Given the description of an element on the screen output the (x, y) to click on. 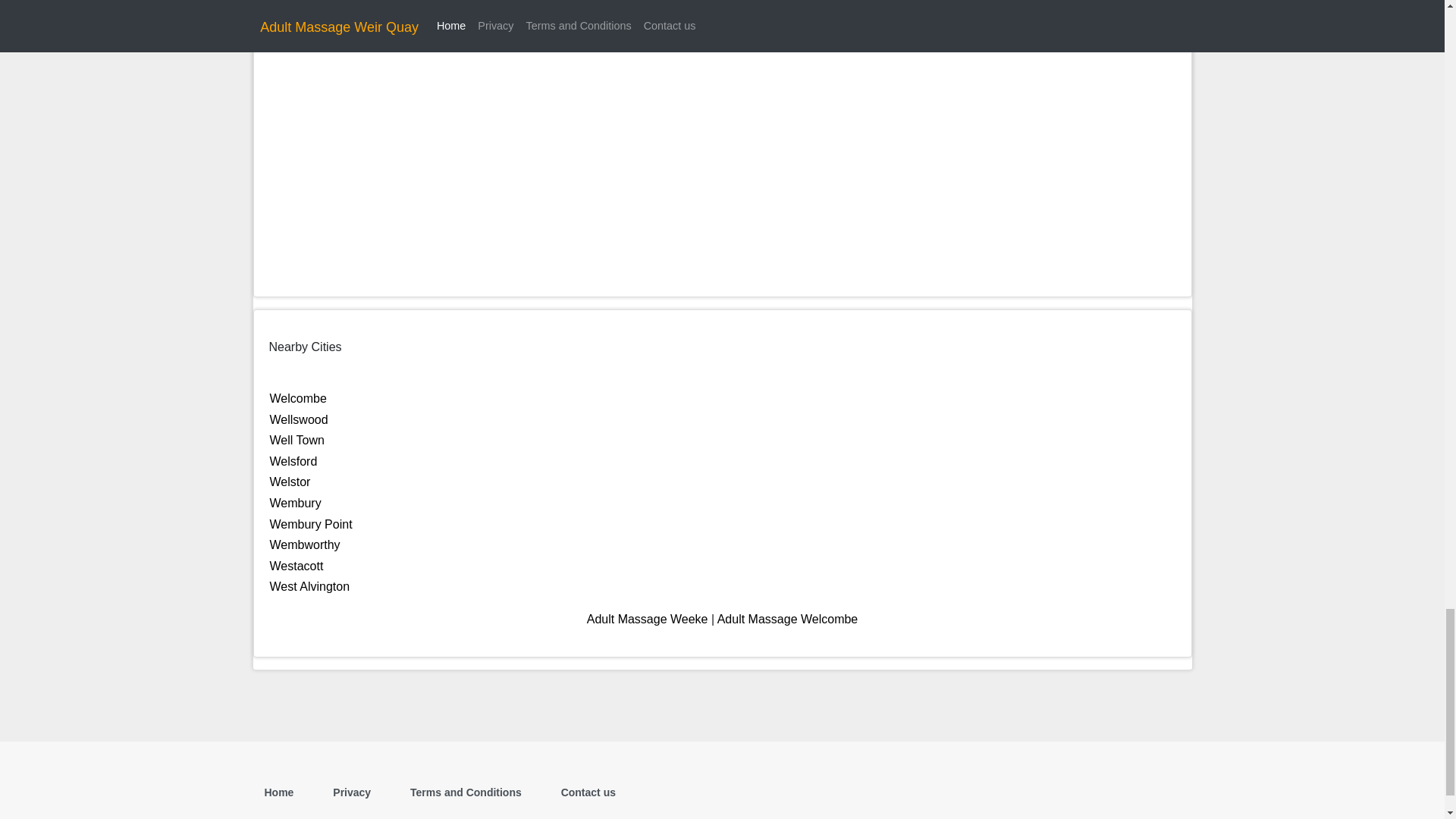
Wembury (295, 502)
Wembury Point (310, 523)
Adult Massage Weeke (646, 618)
Adult Massage Welcombe (788, 618)
Welcombe (297, 398)
West Alvington (309, 585)
Welsford (293, 461)
Welstor (290, 481)
Well Town (296, 440)
Westacott (296, 565)
Wellswood (299, 419)
Wembworthy (304, 544)
